Given the description of an element on the screen output the (x, y) to click on. 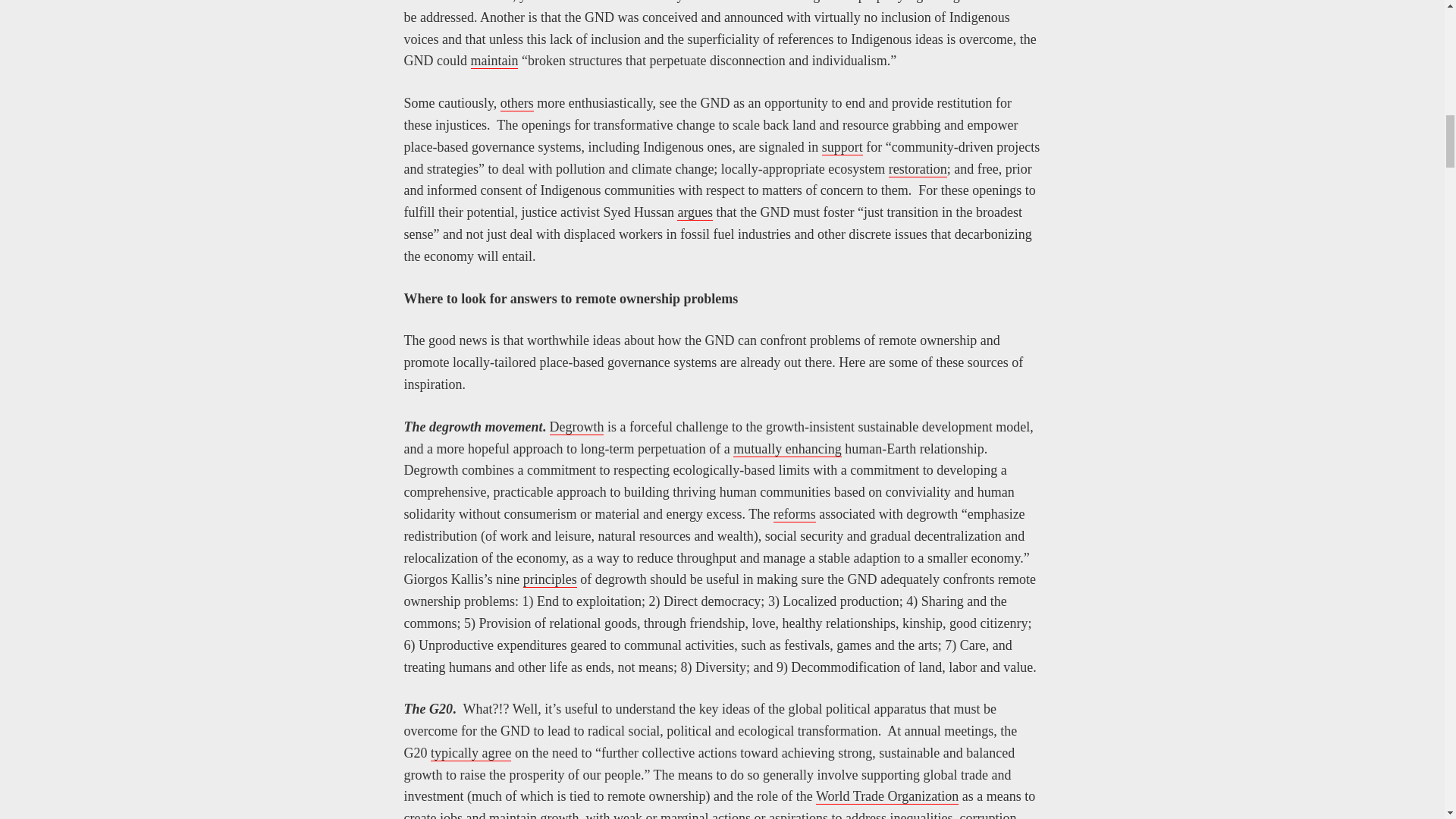
principles (549, 579)
restoration (917, 169)
Degrowth (576, 426)
World Trade Organization (886, 796)
reforms (794, 514)
argues (695, 212)
maintain (494, 60)
others (517, 103)
mutually enhancing (787, 449)
typically agree (470, 753)
